Given the description of an element on the screen output the (x, y) to click on. 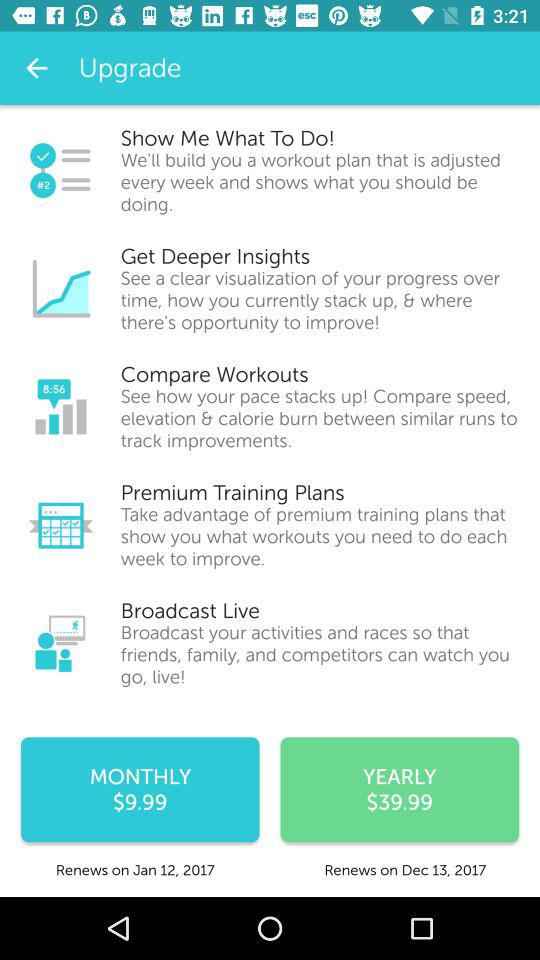
press item to the left of the yearly
$39.99 icon (140, 789)
